Given the description of an element on the screen output the (x, y) to click on. 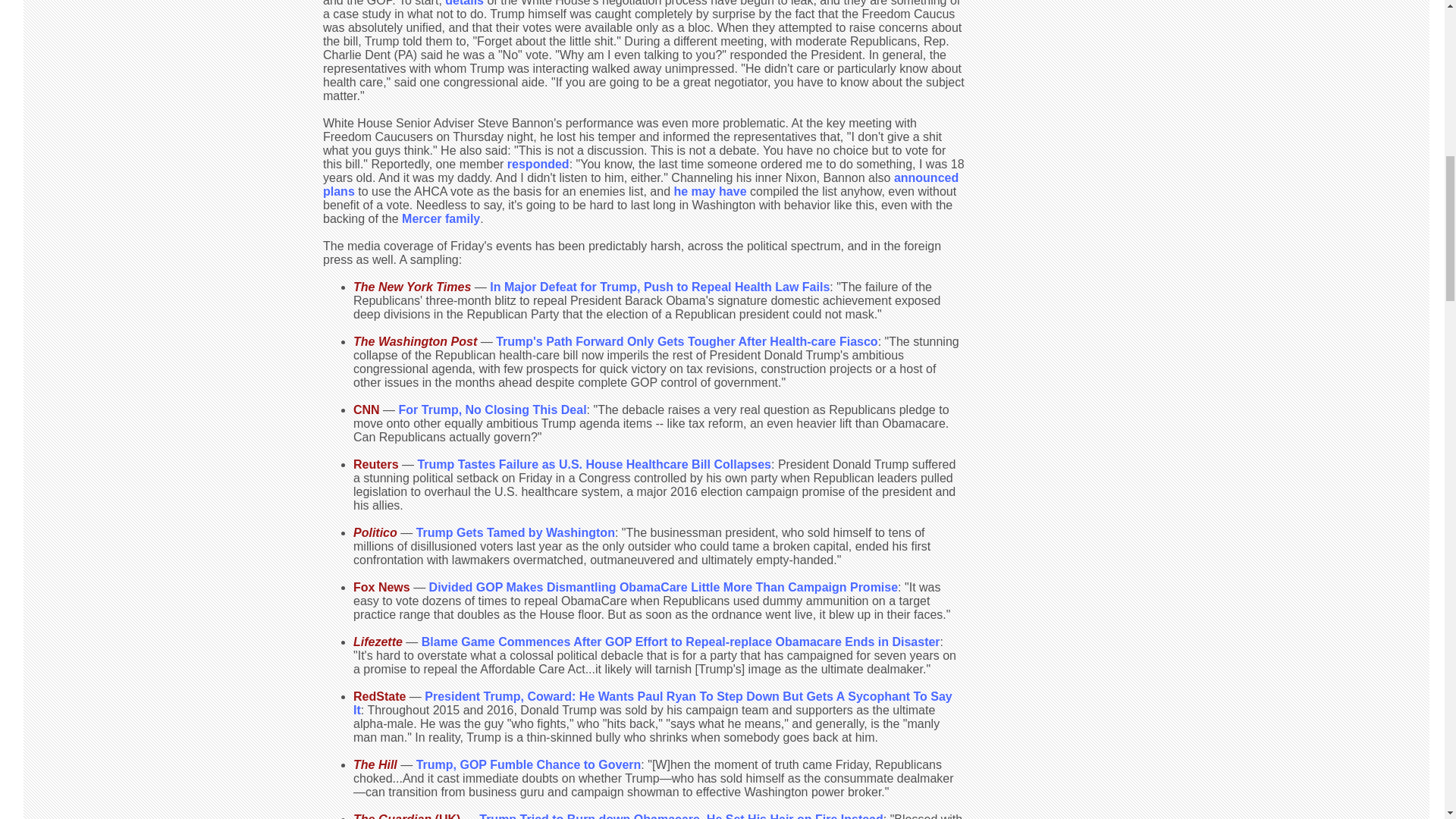
In Major Defeat for Trump, Push to Repeal Health Law Fails (659, 286)
he may have (708, 191)
Mercer family (440, 218)
responded (537, 164)
announced plans (640, 184)
details (464, 3)
For Trump, No Closing This Deal (492, 409)
